Given the description of an element on the screen output the (x, y) to click on. 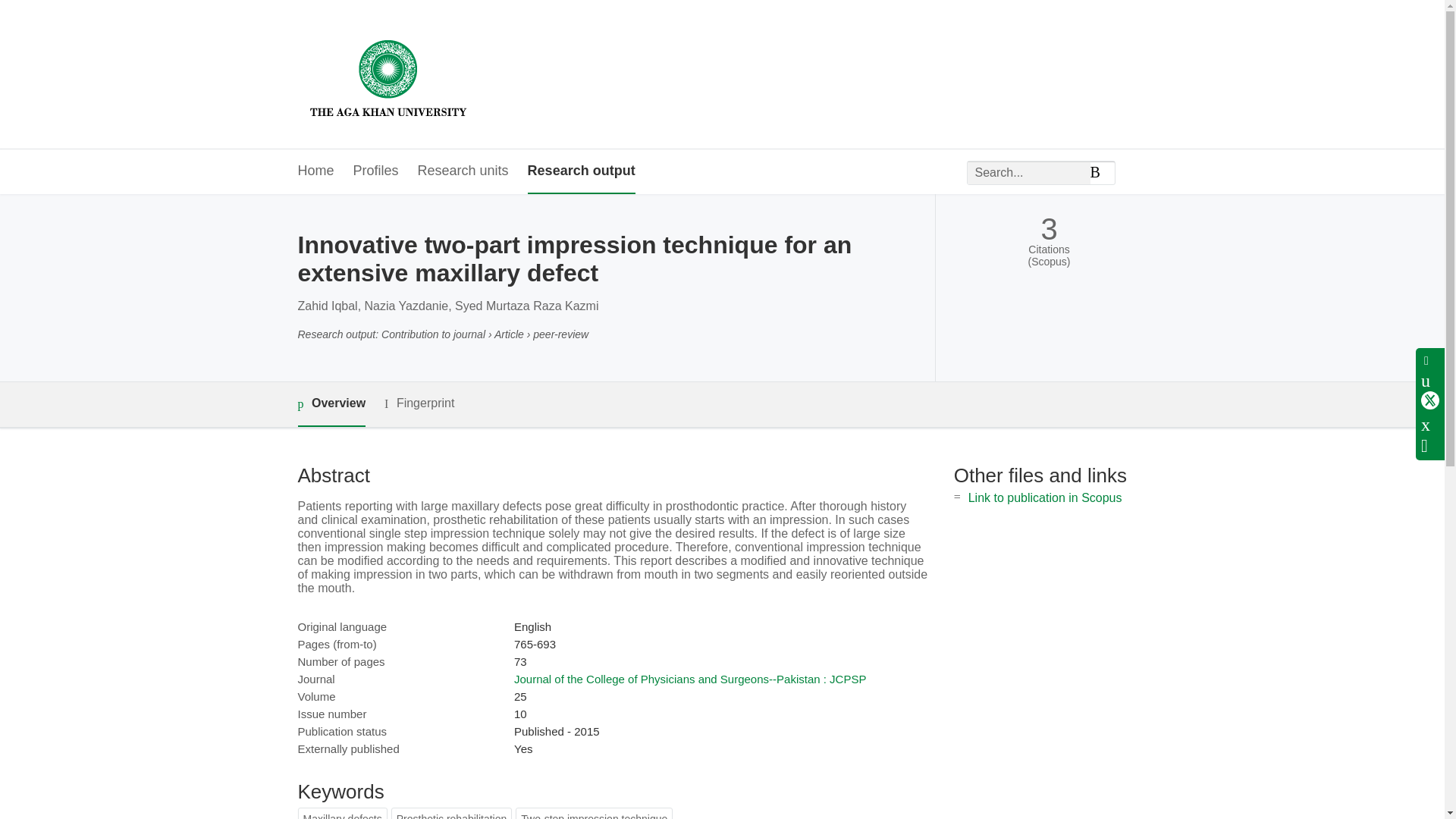
The Aga Khan University Home (388, 74)
Research units (462, 171)
Profiles (375, 171)
Overview (331, 404)
Fingerprint (419, 403)
Research output (580, 171)
Link to publication in Scopus (1045, 497)
